Given the description of an element on the screen output the (x, y) to click on. 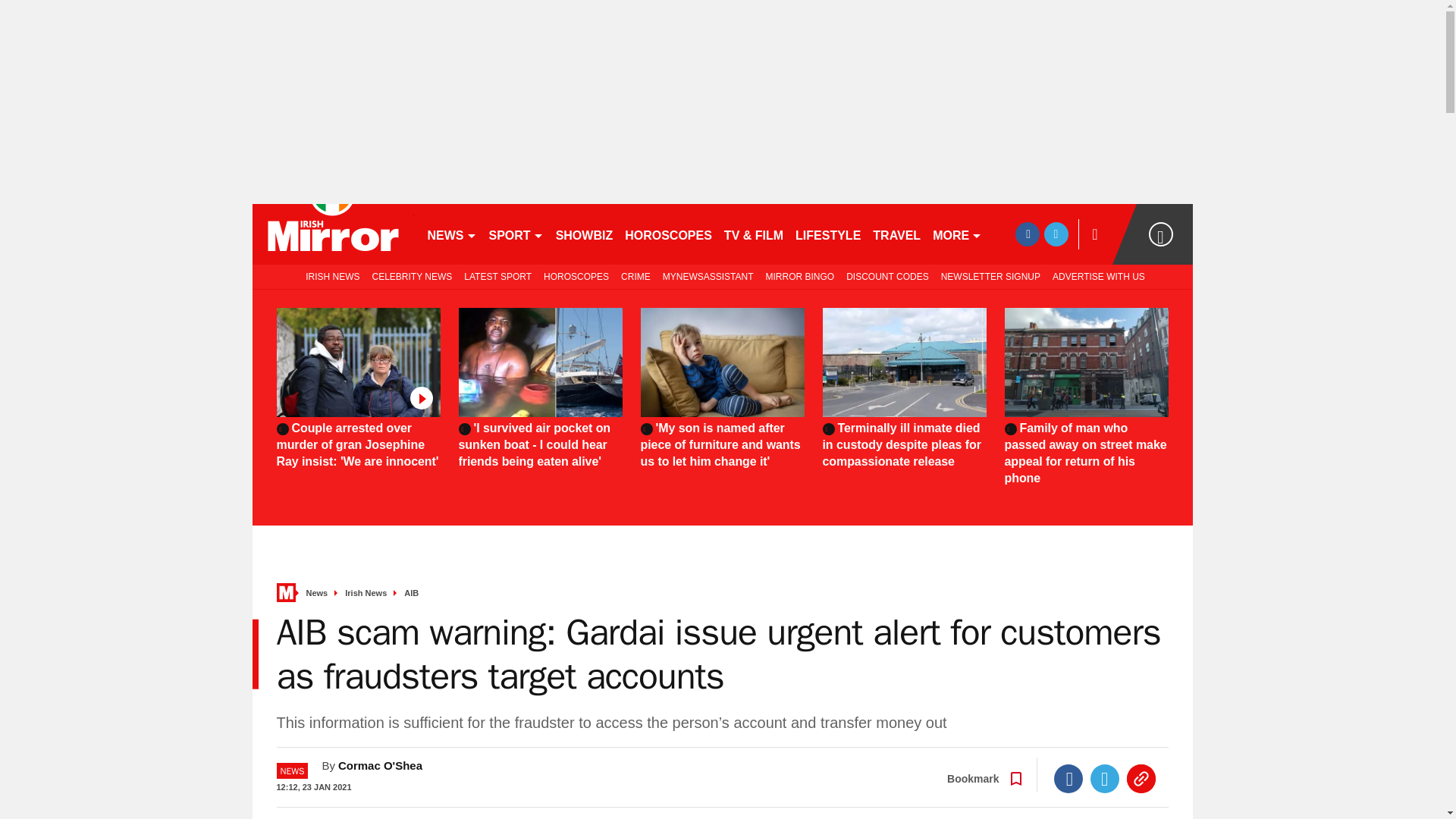
irishmirror (332, 233)
HOROSCOPES (575, 275)
facebook (1026, 233)
HOROSCOPES (667, 233)
TRAVEL (896, 233)
IRISH NEWS (329, 275)
NEWS (452, 233)
MYNEWSASSISTANT (708, 275)
SPORT (514, 233)
SHOWBIZ (585, 233)
